Given the description of an element on the screen output the (x, y) to click on. 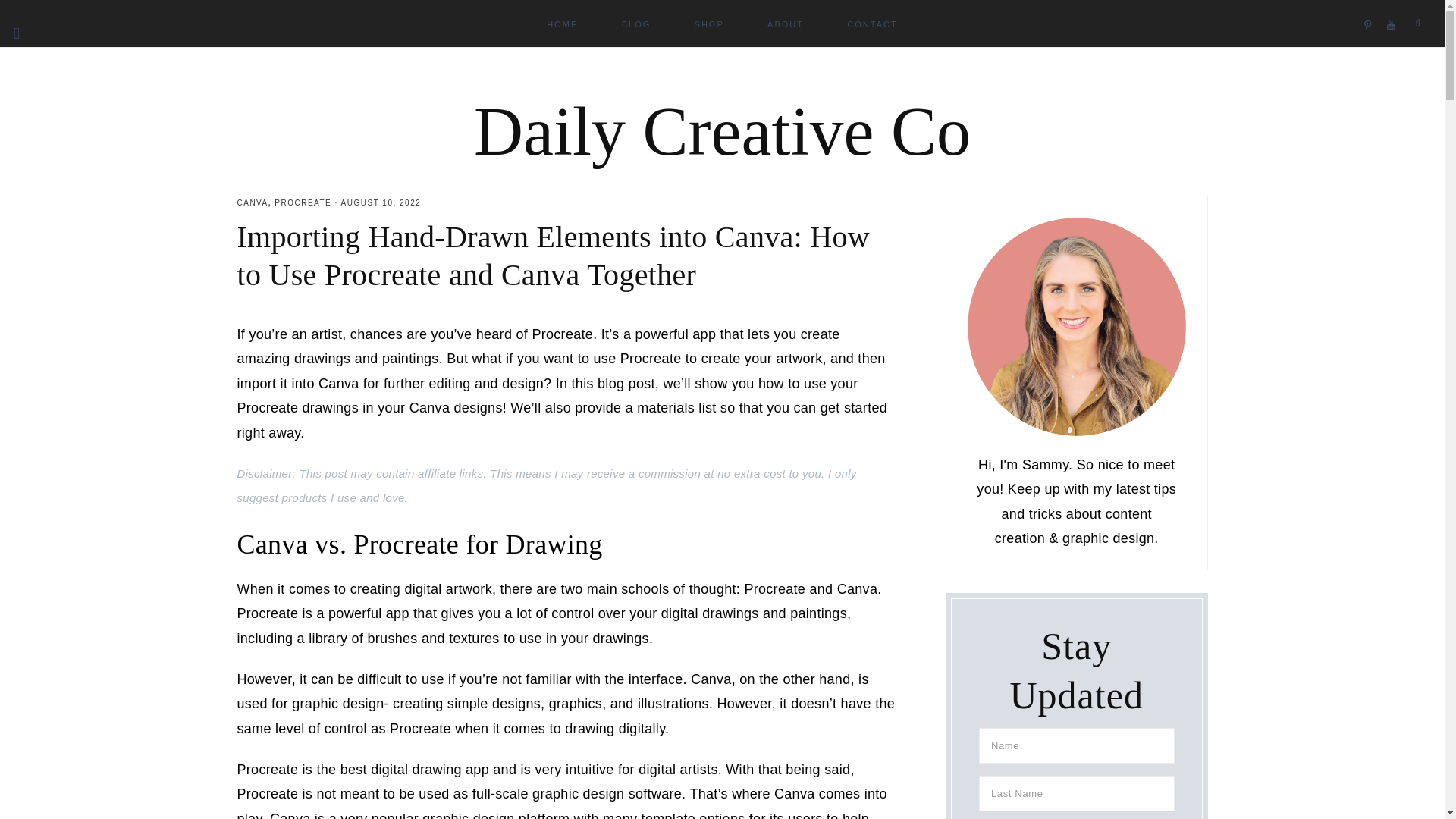
SHOP (709, 22)
Pinterest (1370, 5)
ABOUT (786, 22)
CANVA (251, 203)
PROCREATE (303, 203)
BLOG (636, 22)
YouTube (1393, 5)
CONTACT (872, 22)
HOME (561, 22)
Daily Creative Co (722, 131)
